Given the description of an element on the screen output the (x, y) to click on. 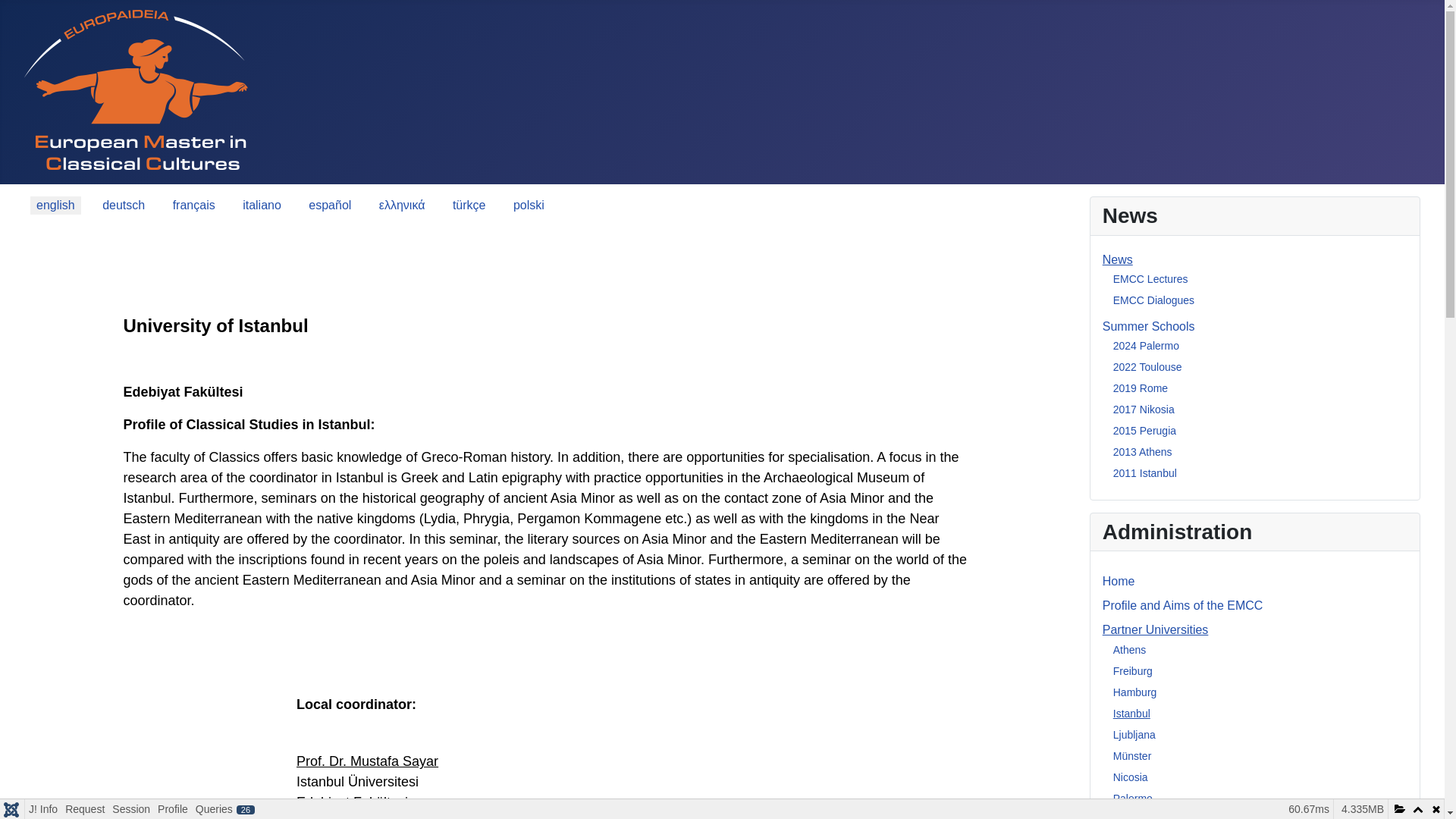
Palermo (1133, 798)
2015 Perugia (1144, 430)
Summer Schools (1148, 326)
english (55, 204)
2017 Nikosia (1143, 409)
EMCC Dialogues (1153, 300)
2011 Istanbul (1144, 472)
EMCC Lectures (1150, 278)
Freiburg (1133, 671)
Istanbul (1131, 713)
Home (1118, 581)
Partner Universities (1155, 629)
Perugia (1131, 816)
Hamburg (1135, 692)
polski (528, 204)
